Given the description of an element on the screen output the (x, y) to click on. 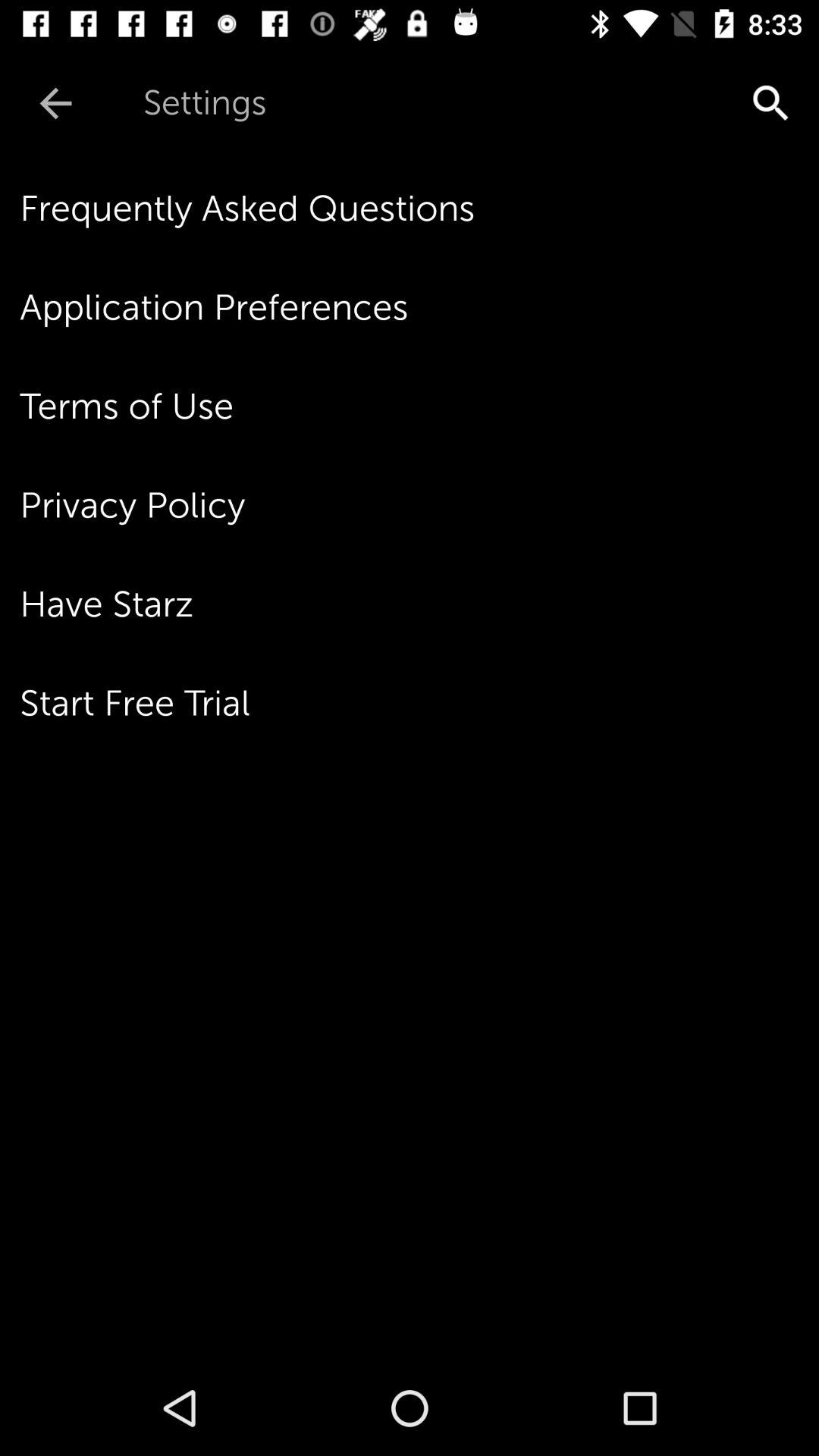
press the item above the terms of use (419, 307)
